Given the description of an element on the screen output the (x, y) to click on. 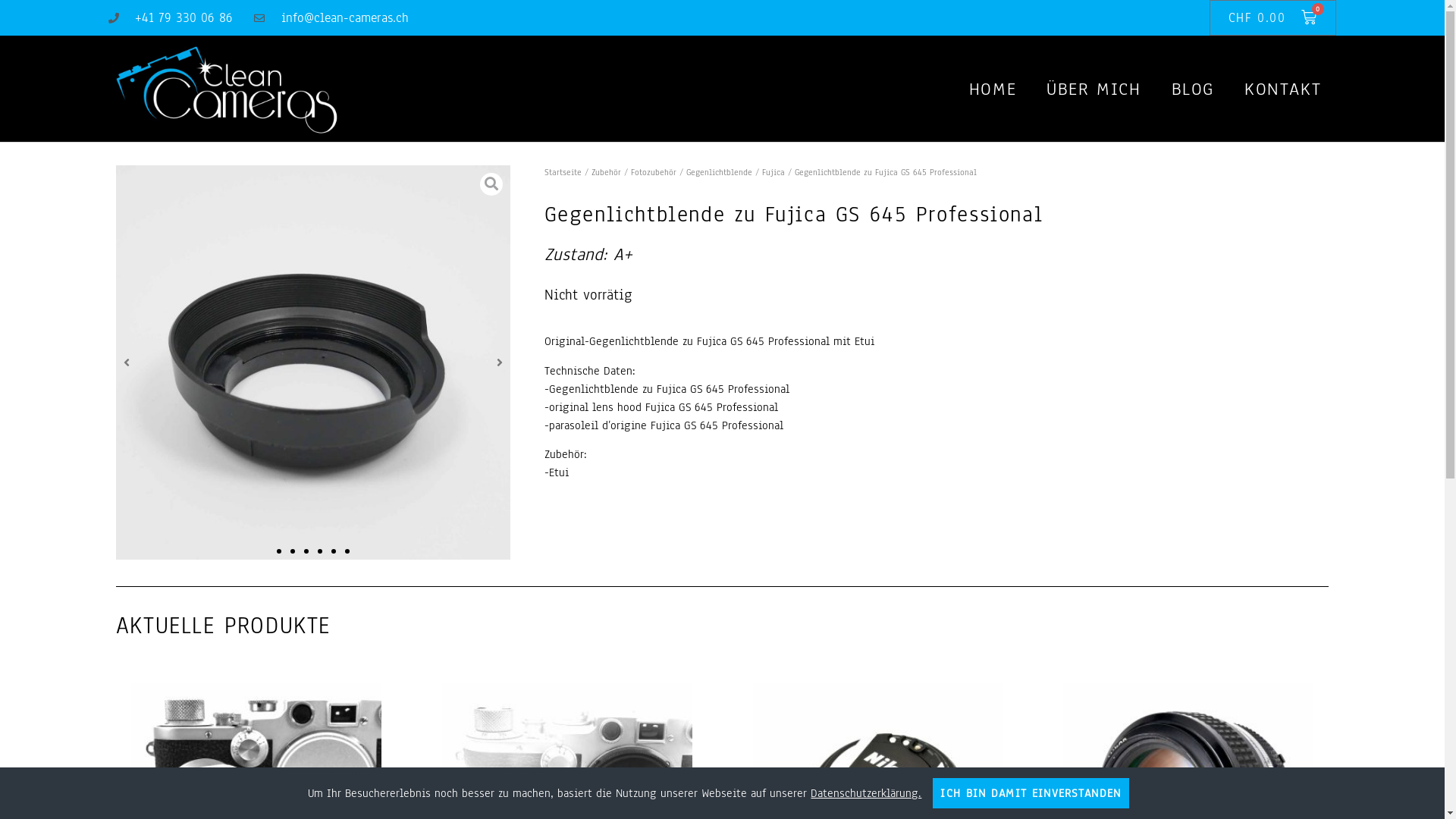
Fujica Element type: text (773, 172)
CHF 0.00
0 Element type: text (1272, 17)
+41 79 330 06 86 Element type: text (170, 17)
HOME Element type: text (992, 88)
Gegenlichtblende Element type: text (719, 172)
info@clean-cameras.ch Element type: text (331, 17)
KONTAKT Element type: text (1282, 88)
ICH BIN DAMIT EINVERSTANDEN Element type: text (1030, 793)
Startseite Element type: text (562, 172)
BLOG Element type: text (1192, 88)
